Given the description of an element on the screen output the (x, y) to click on. 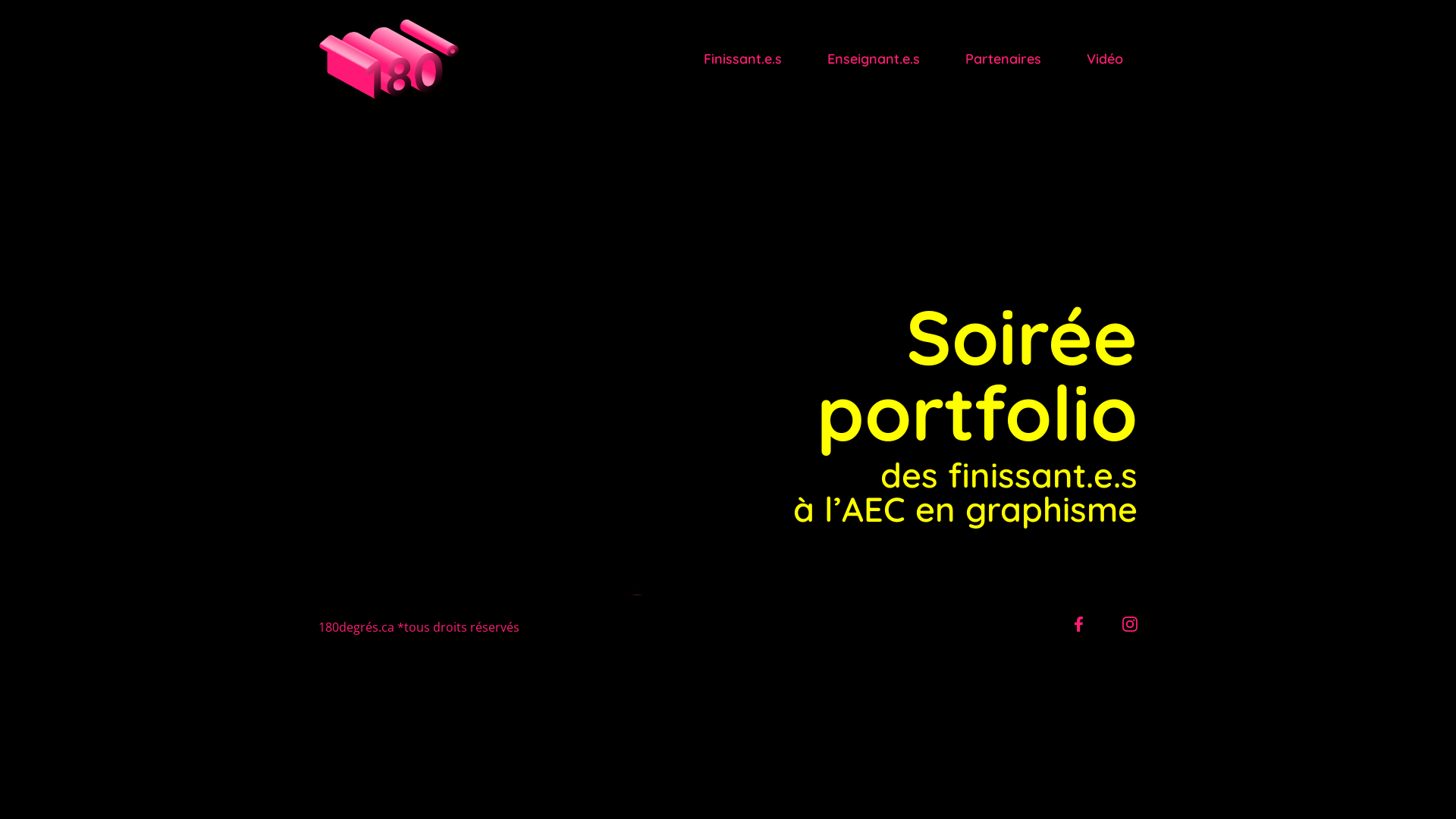
Partenaires Element type: text (1003, 59)
180degres2022 Element type: hover (1129, 626)
Enseignant.e.s Element type: text (873, 59)
180degres2022 Element type: hover (1078, 626)
Finissant.e.s Element type: text (742, 59)
